Given the description of an element on the screen output the (x, y) to click on. 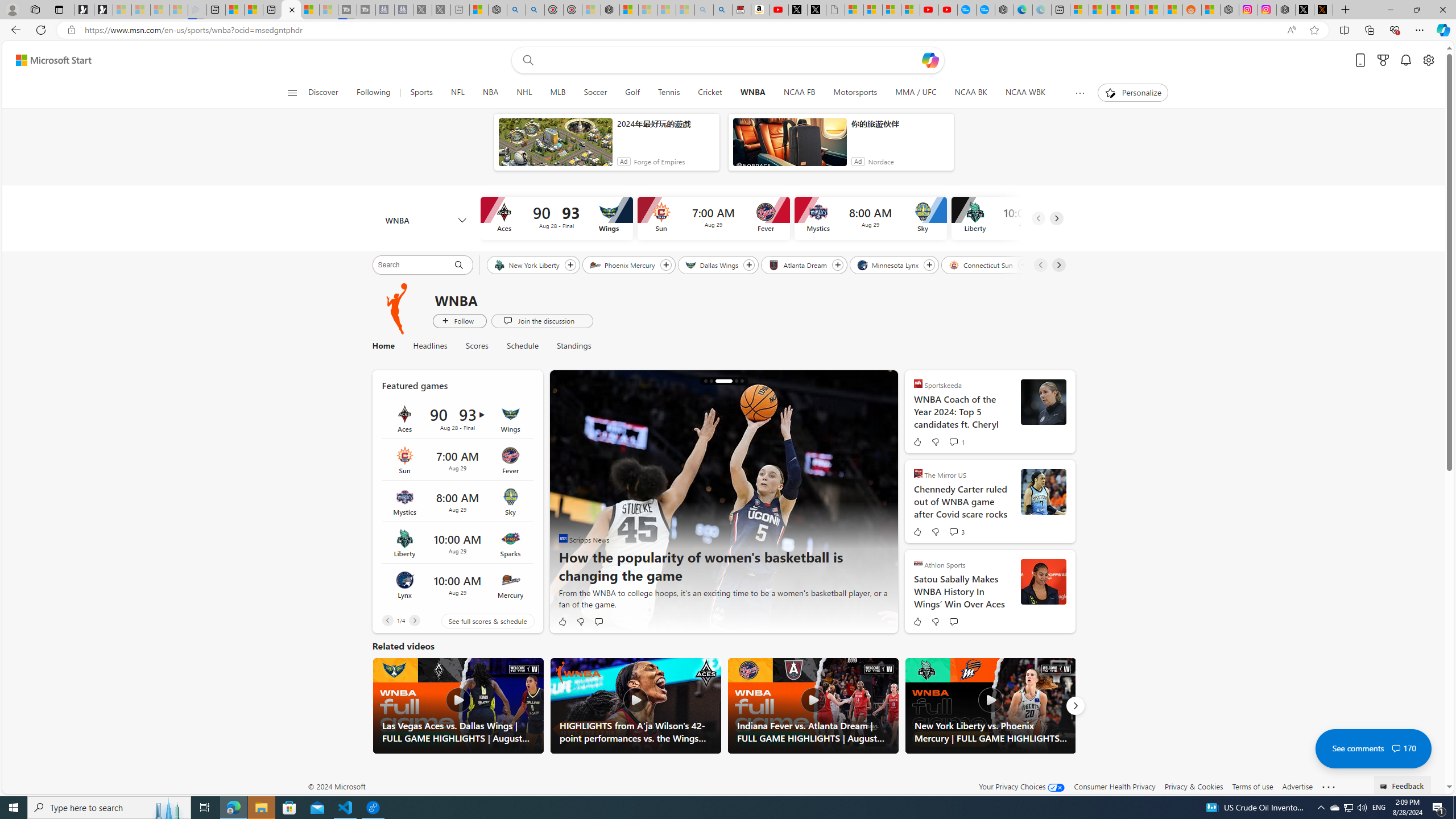
help.x.com | 524: A timeout occurred (1323, 9)
View comments 1 Comment (953, 441)
Golf (632, 92)
Golf (631, 92)
Liberty vs Sparks Time 10:00 AM Date Aug 29 (456, 543)
Headlines (430, 345)
Cricket (709, 92)
Show more topics (1079, 92)
poe ++ standard - Search (534, 9)
Cricket (709, 92)
